Given the description of an element on the screen output the (x, y) to click on. 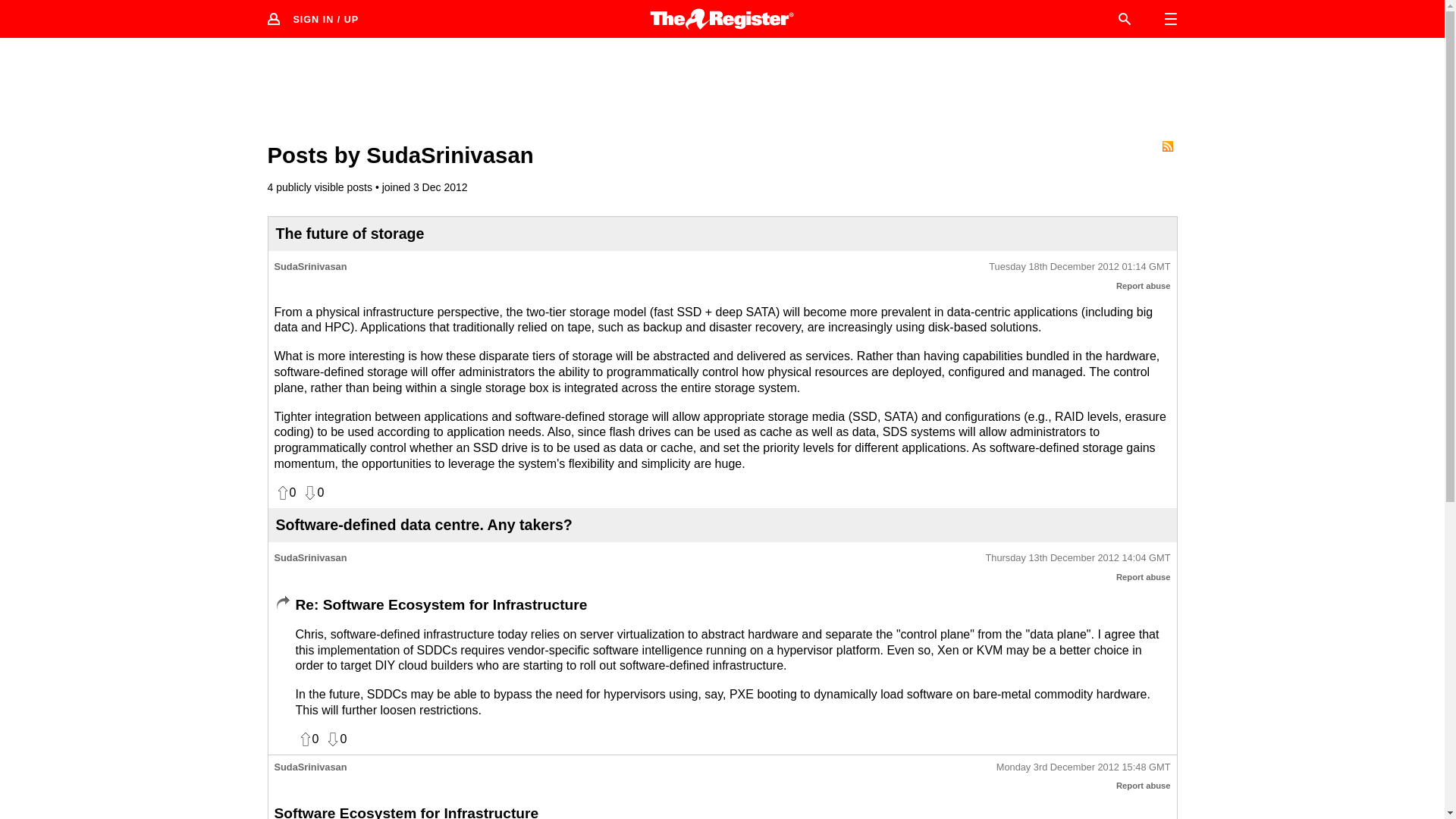
Feed of new posts by this user (1166, 145)
Dislike this post? Vote it down! (335, 739)
Inappropriate post? Report it to our moderators (1143, 285)
Inappropriate post? Report it to our moderators (1143, 785)
Report abuse (1143, 785)
Permalink to this post (1079, 267)
Permalink to this post (1082, 767)
Report abuse (1143, 285)
Dislike this post? Vote it down! (312, 492)
Permalink to this post (1077, 558)
